Given the description of an element on the screen output the (x, y) to click on. 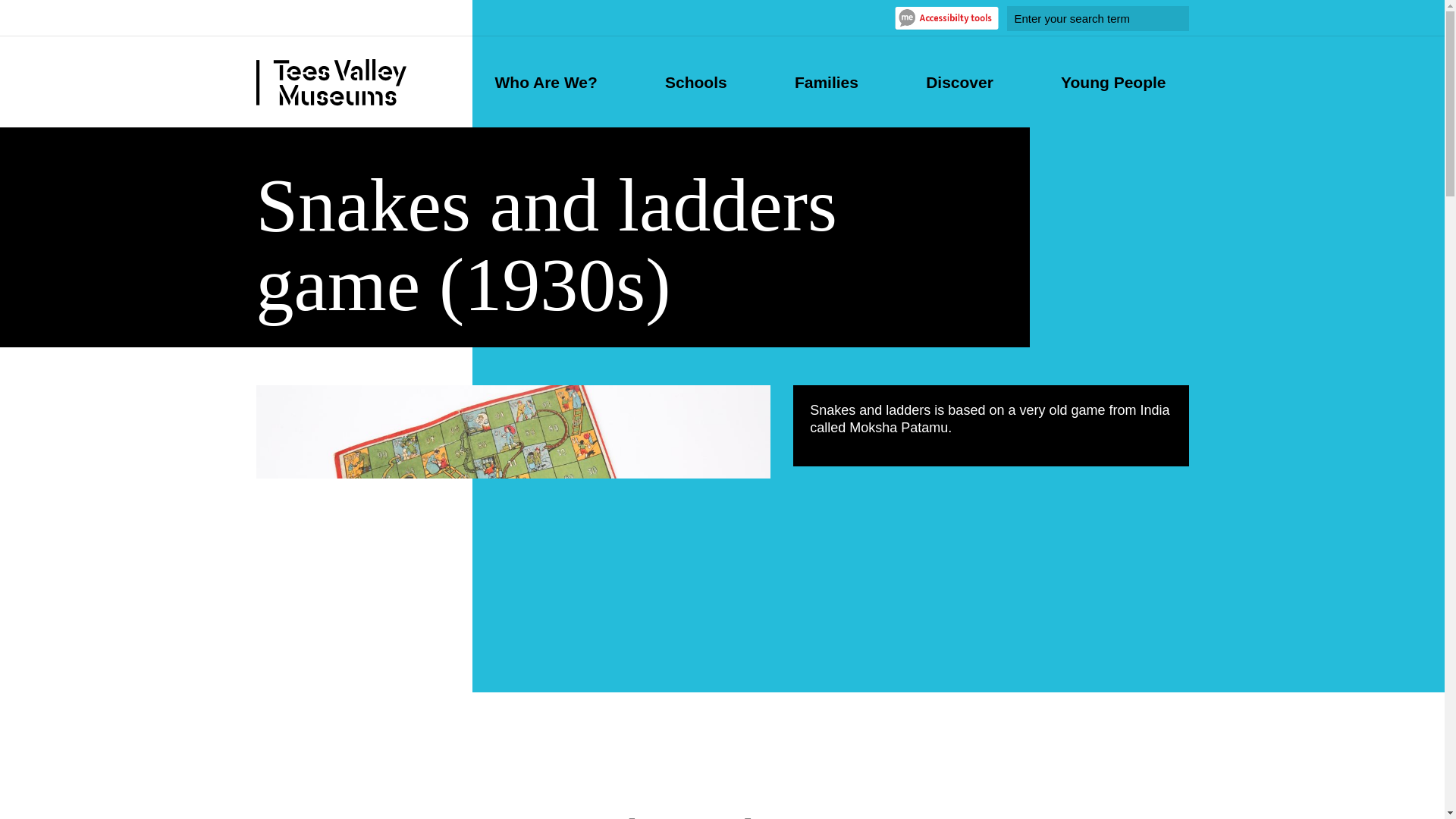
Schools (695, 82)
Families (826, 82)
Search (1168, 18)
Who Are We? (545, 82)
